Given the description of an element on the screen output the (x, y) to click on. 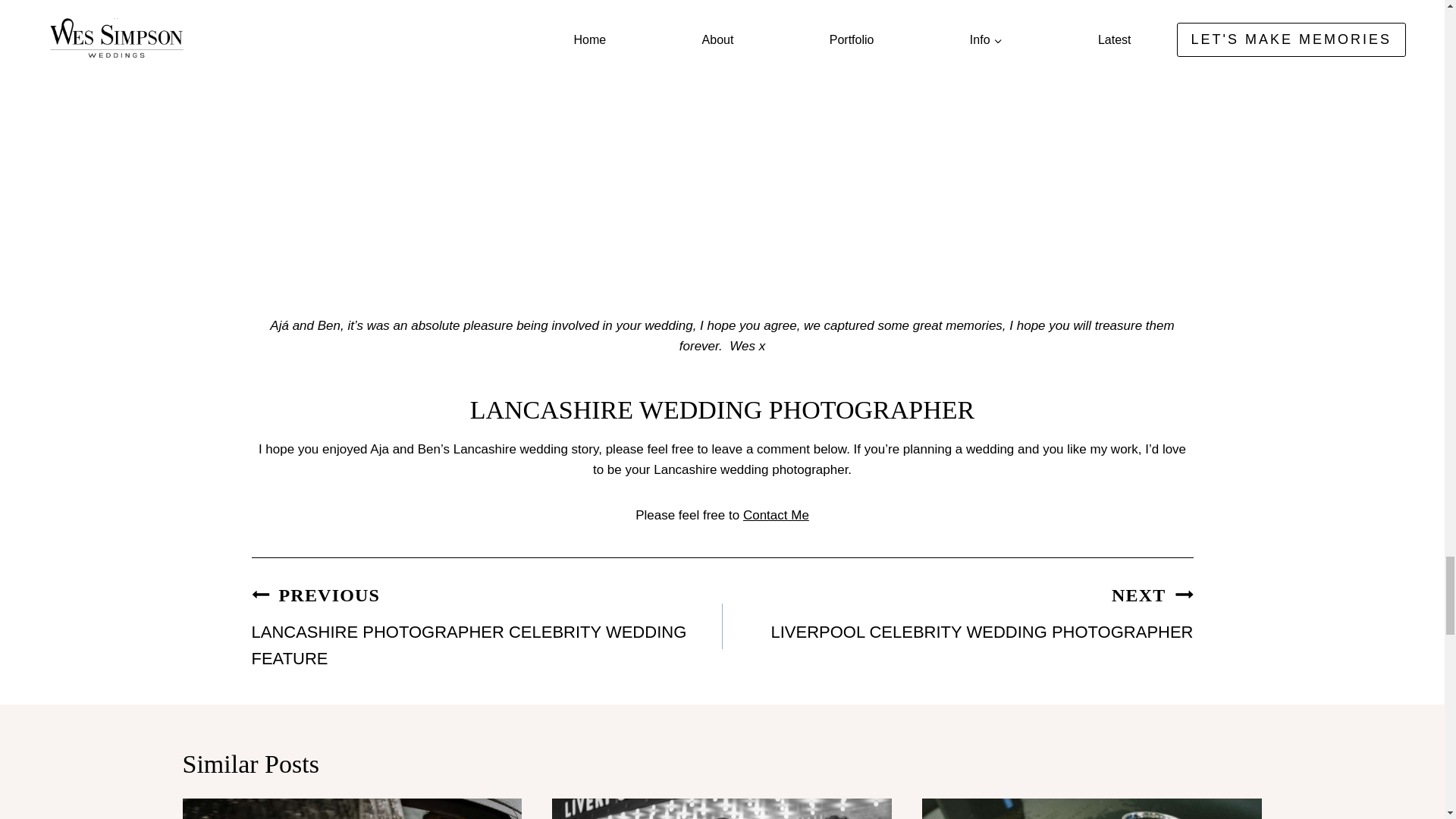
Contact Me (486, 625)
